Given the description of an element on the screen output the (x, y) to click on. 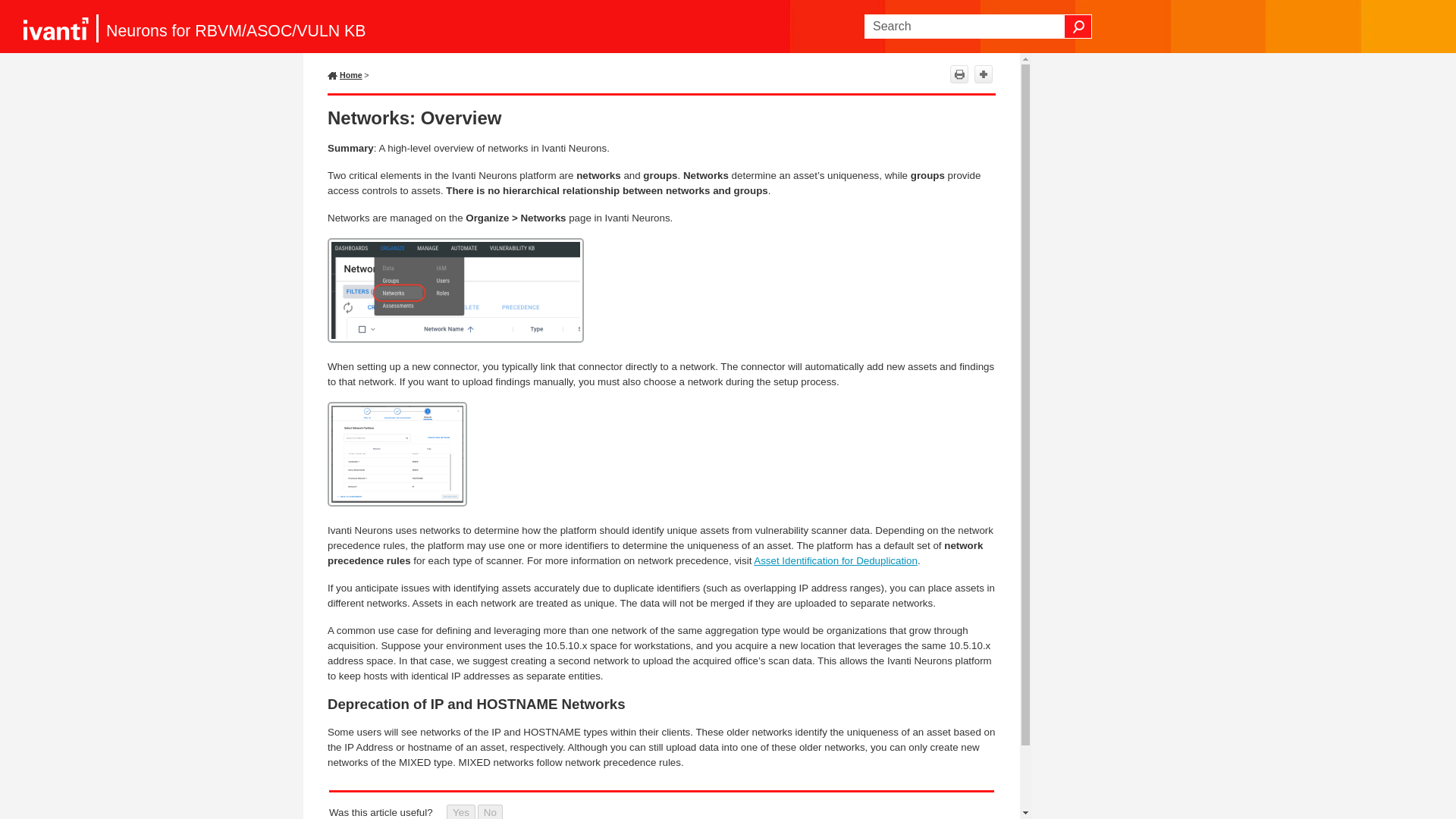
Print (959, 74)
Home (345, 74)
Asset Identification for Deduplication (835, 560)
Search (1078, 26)
Expand all (983, 74)
